Given the description of an element on the screen output the (x, y) to click on. 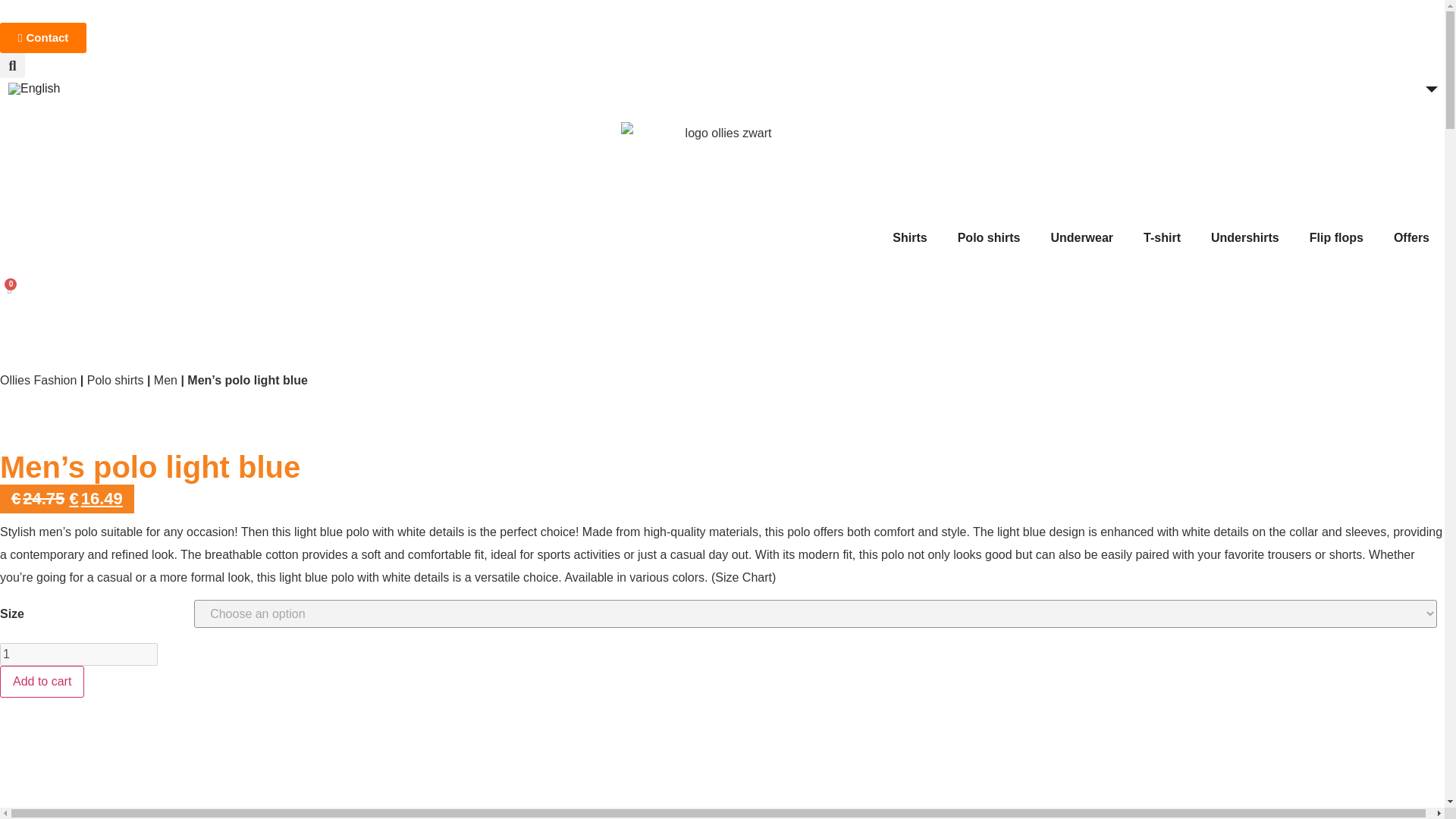
Underwear (1081, 237)
Polo shirts (988, 237)
Flip flops (1336, 237)
Contact (42, 37)
1 (78, 653)
Shirts (909, 237)
T-shirt (1161, 237)
Undershirts (1244, 237)
Offers (1411, 237)
